Given the description of an element on the screen output the (x, y) to click on. 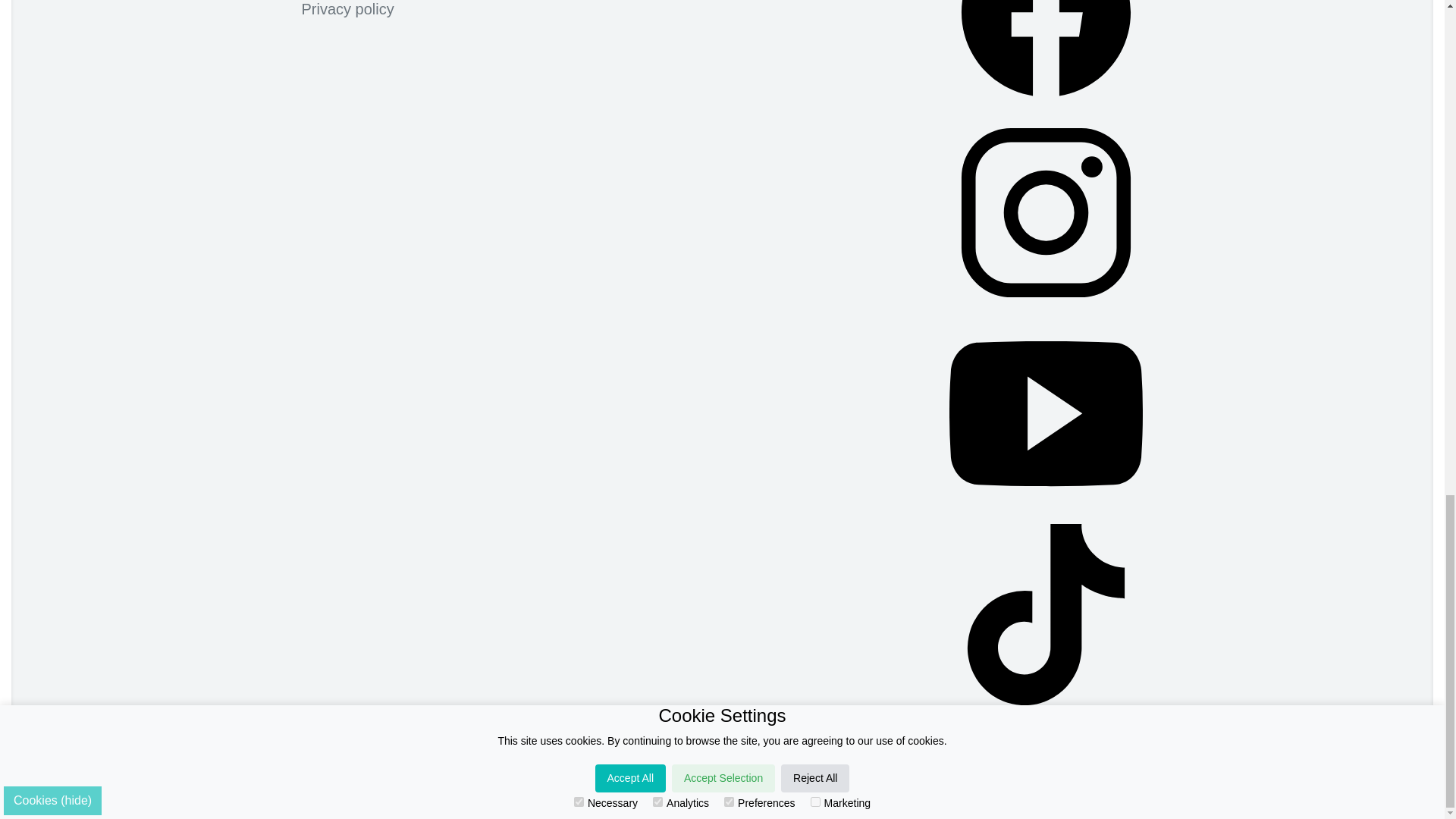
Youtube (1045, 416)
Tiktok (1045, 618)
Instagram (1045, 216)
Facebook (1045, 58)
